Given the description of an element on the screen output the (x, y) to click on. 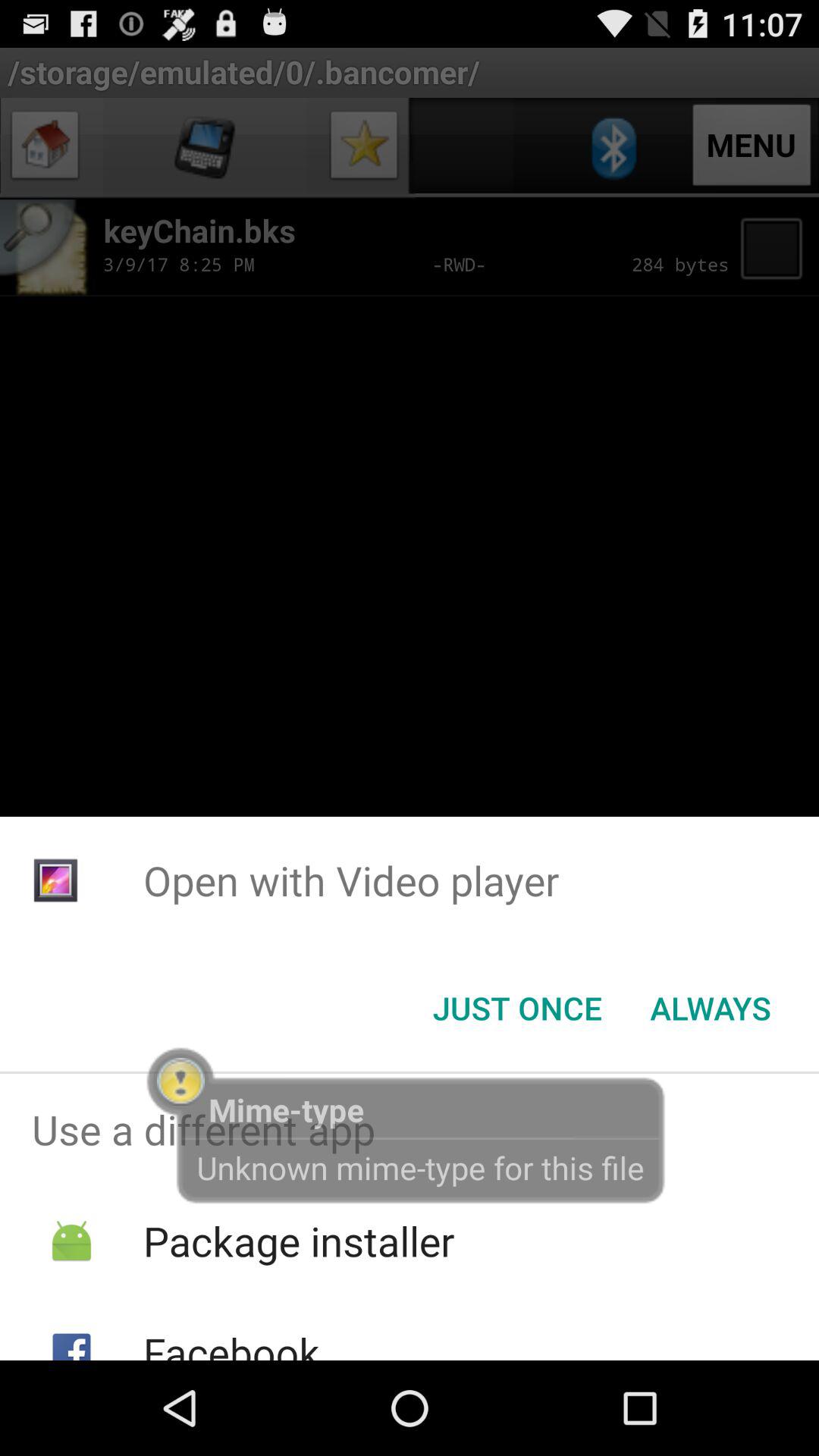
open icon below the open with video item (710, 1007)
